Given the description of an element on the screen output the (x, y) to click on. 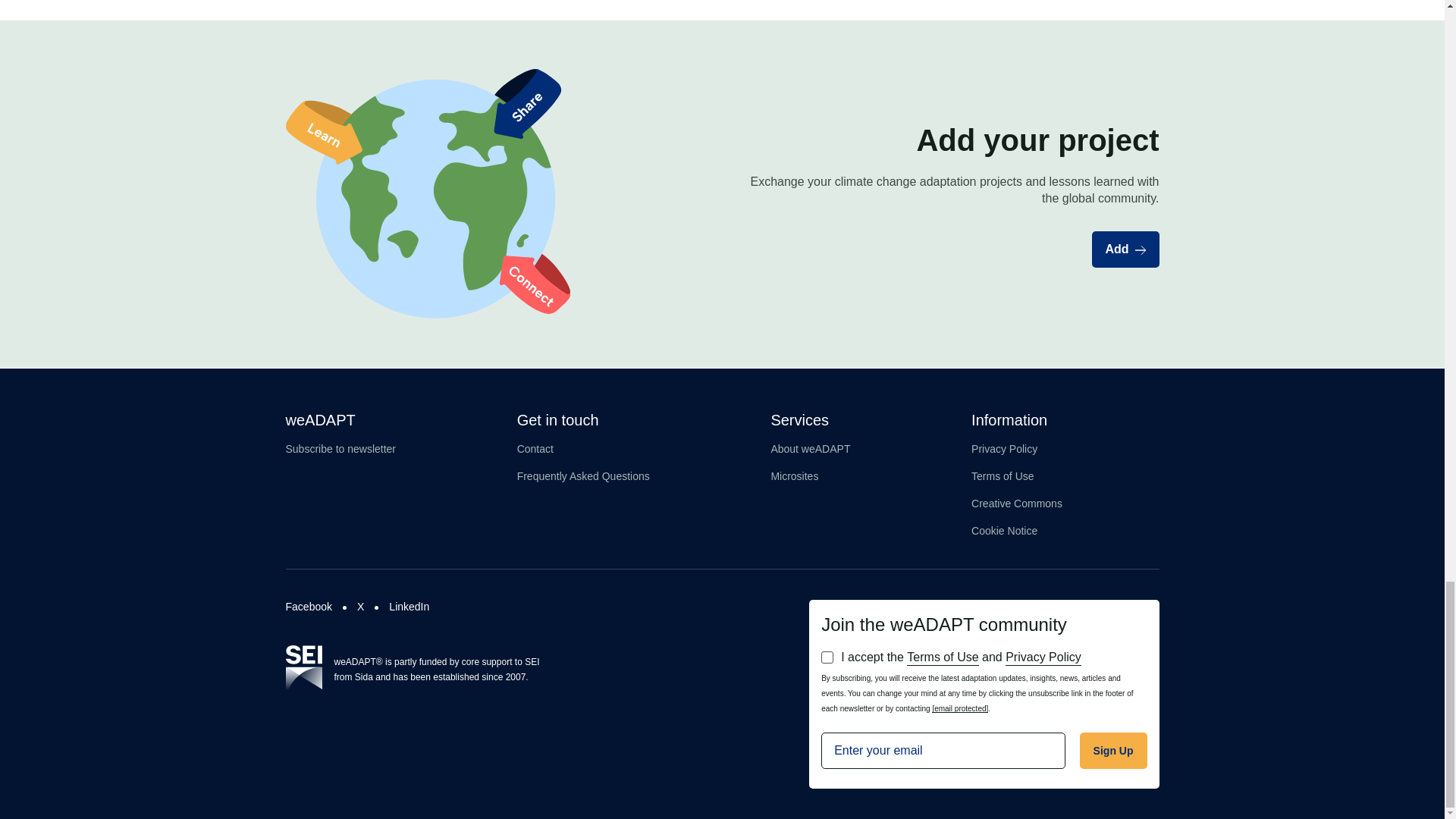
Sign Up (1113, 750)
1 (826, 657)
